Given the description of an element on the screen output the (x, y) to click on. 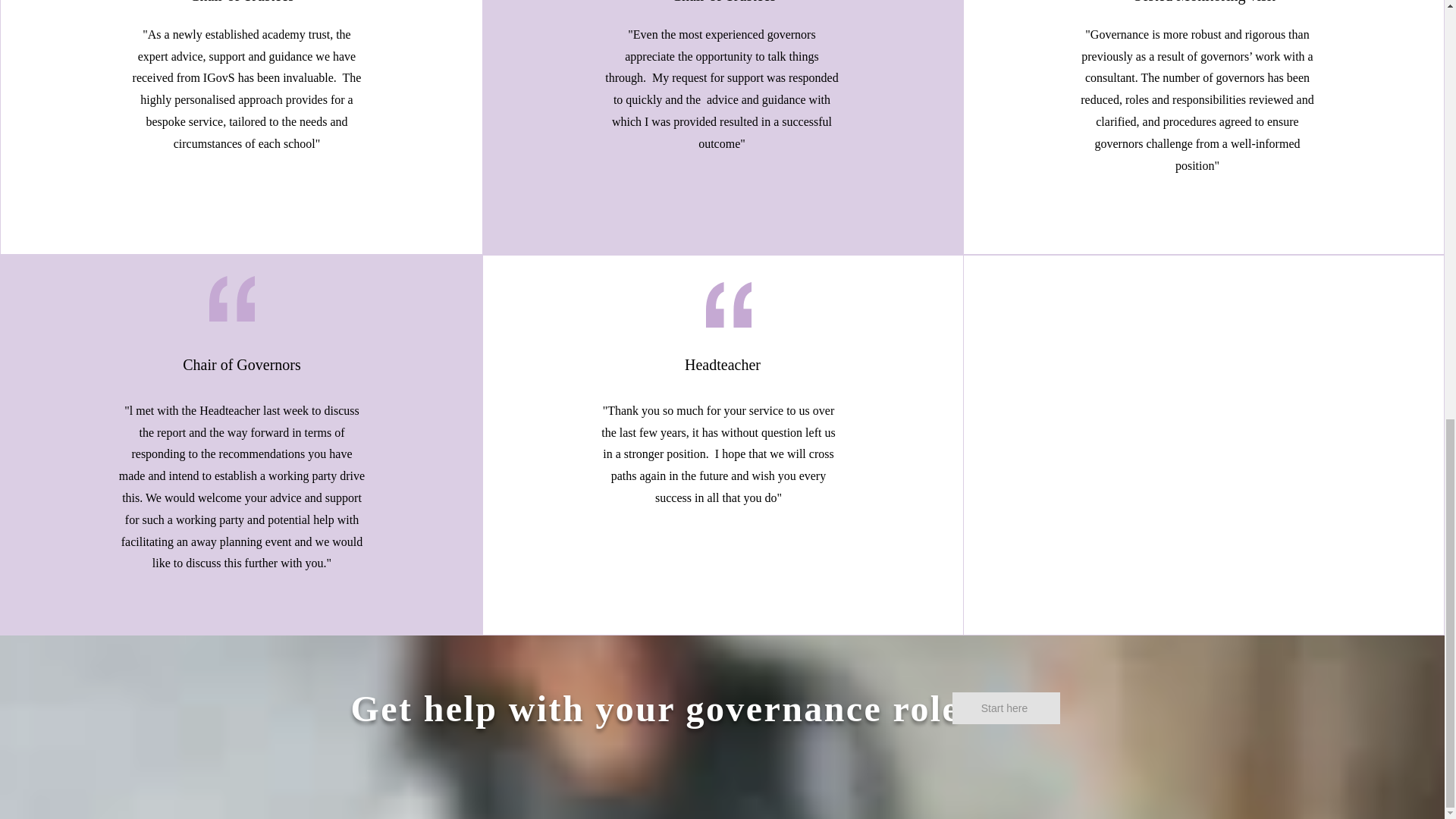
Start here (1005, 707)
